Given the description of an element on the screen output the (x, y) to click on. 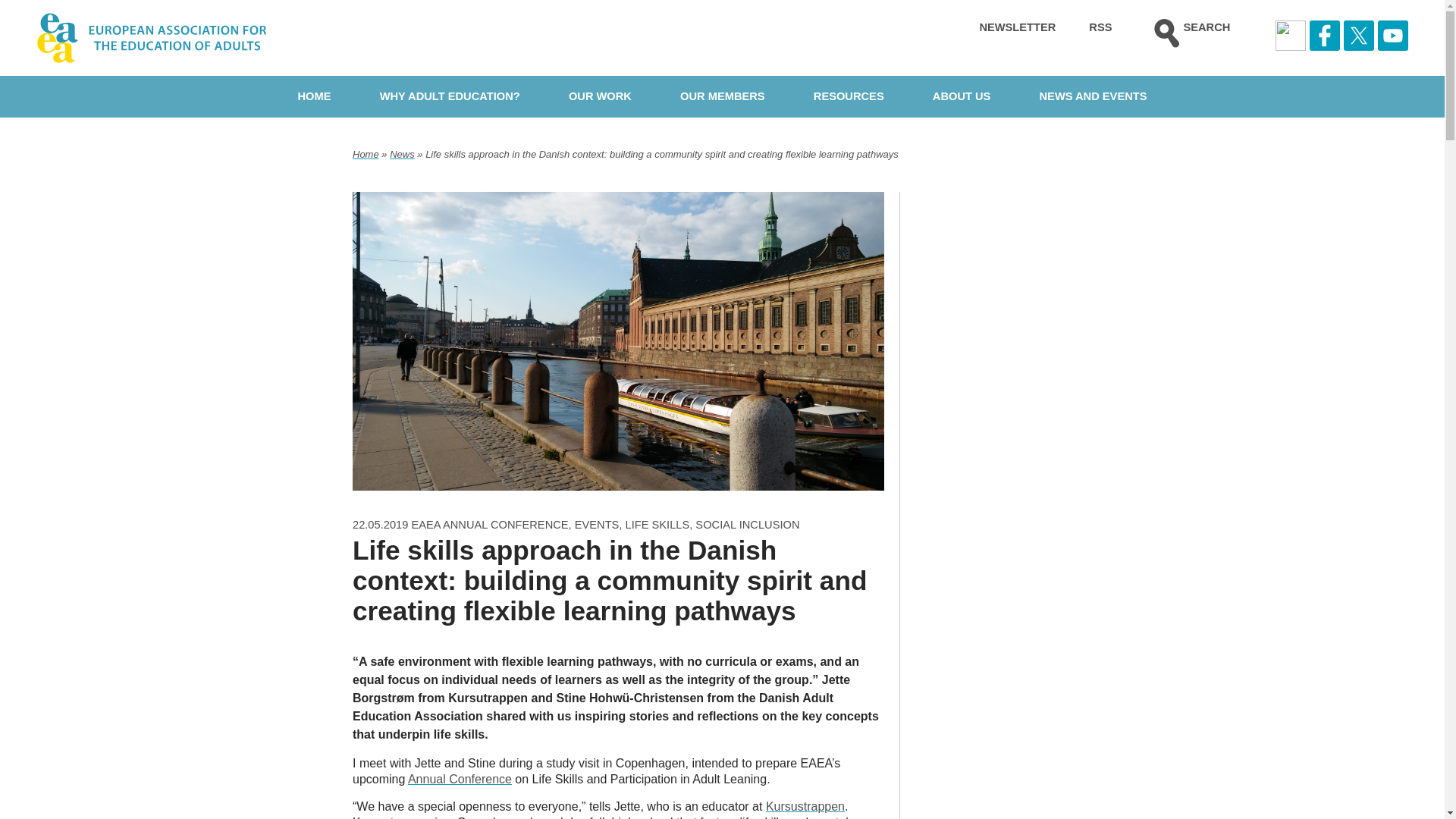
RESOURCES (848, 96)
HOME (314, 96)
OUR WORK (600, 96)
SEARCH (1187, 37)
OUR MEMBERS (722, 96)
RSS (1100, 37)
NEWSLETTER (1016, 37)
WHY ADULT EDUCATION? (449, 96)
